Given the description of an element on the screen output the (x, y) to click on. 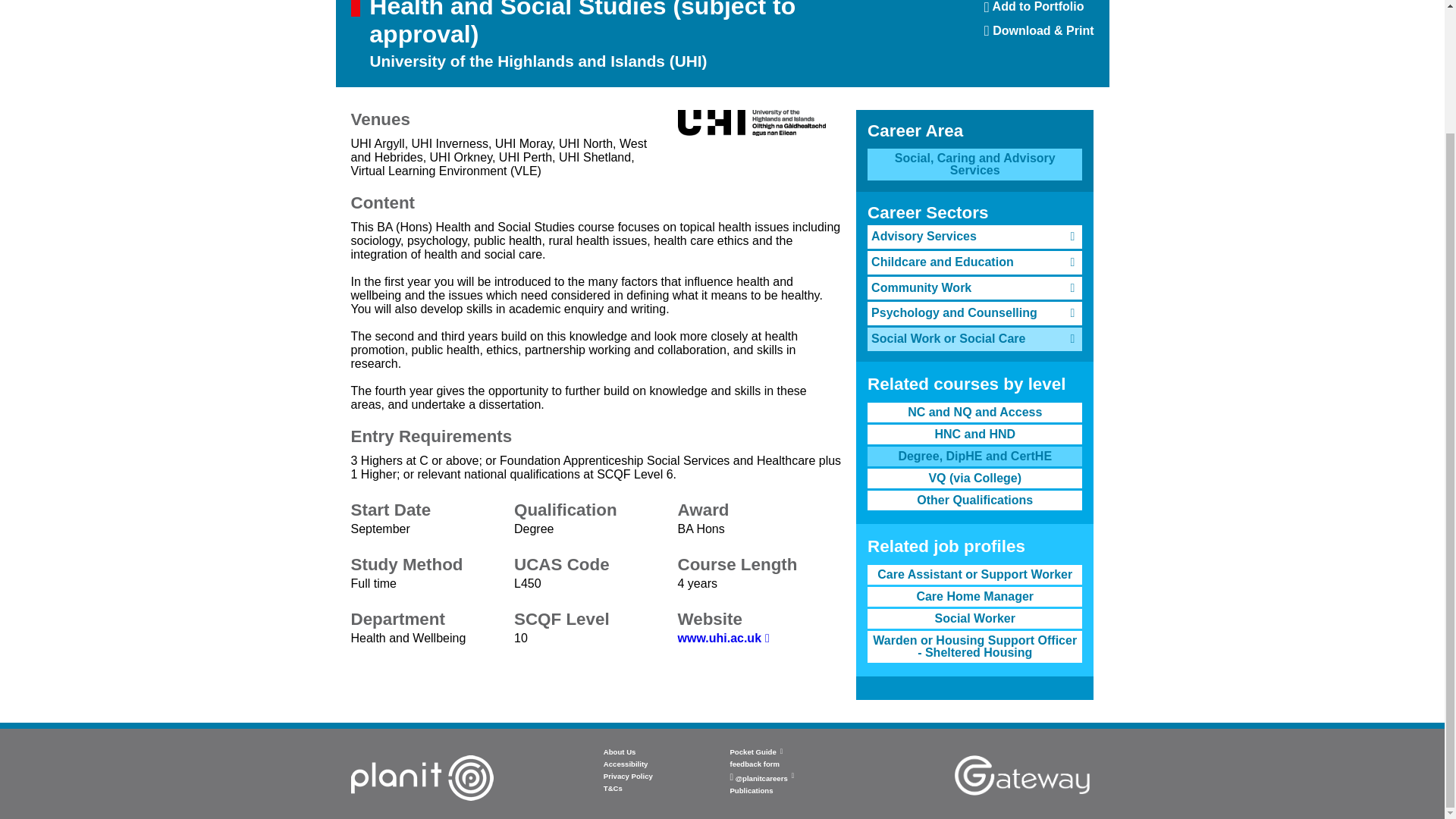
www.uhi.ac.uk (1039, 12)
Social, Caring and Advisory Services (724, 637)
